Given the description of an element on the screen output the (x, y) to click on. 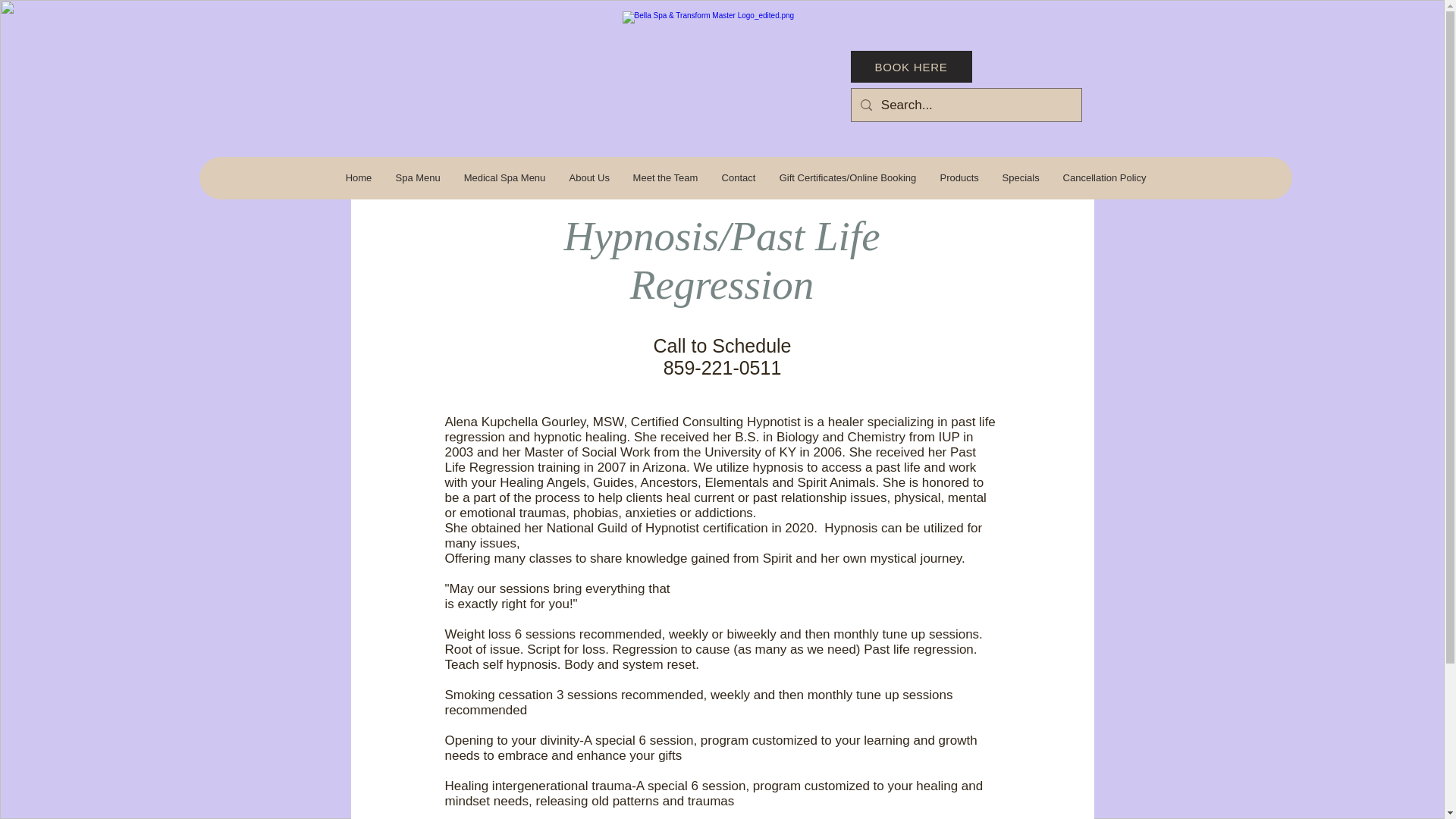
Specials (1020, 178)
Spa Menu (417, 178)
Home (358, 178)
Contact (738, 178)
BOOK HERE (911, 66)
Products (959, 178)
Cancellation Policy (1104, 178)
Medical Spa Menu (504, 178)
About Us (588, 178)
Meet the Team (664, 178)
